Given the description of an element on the screen output the (x, y) to click on. 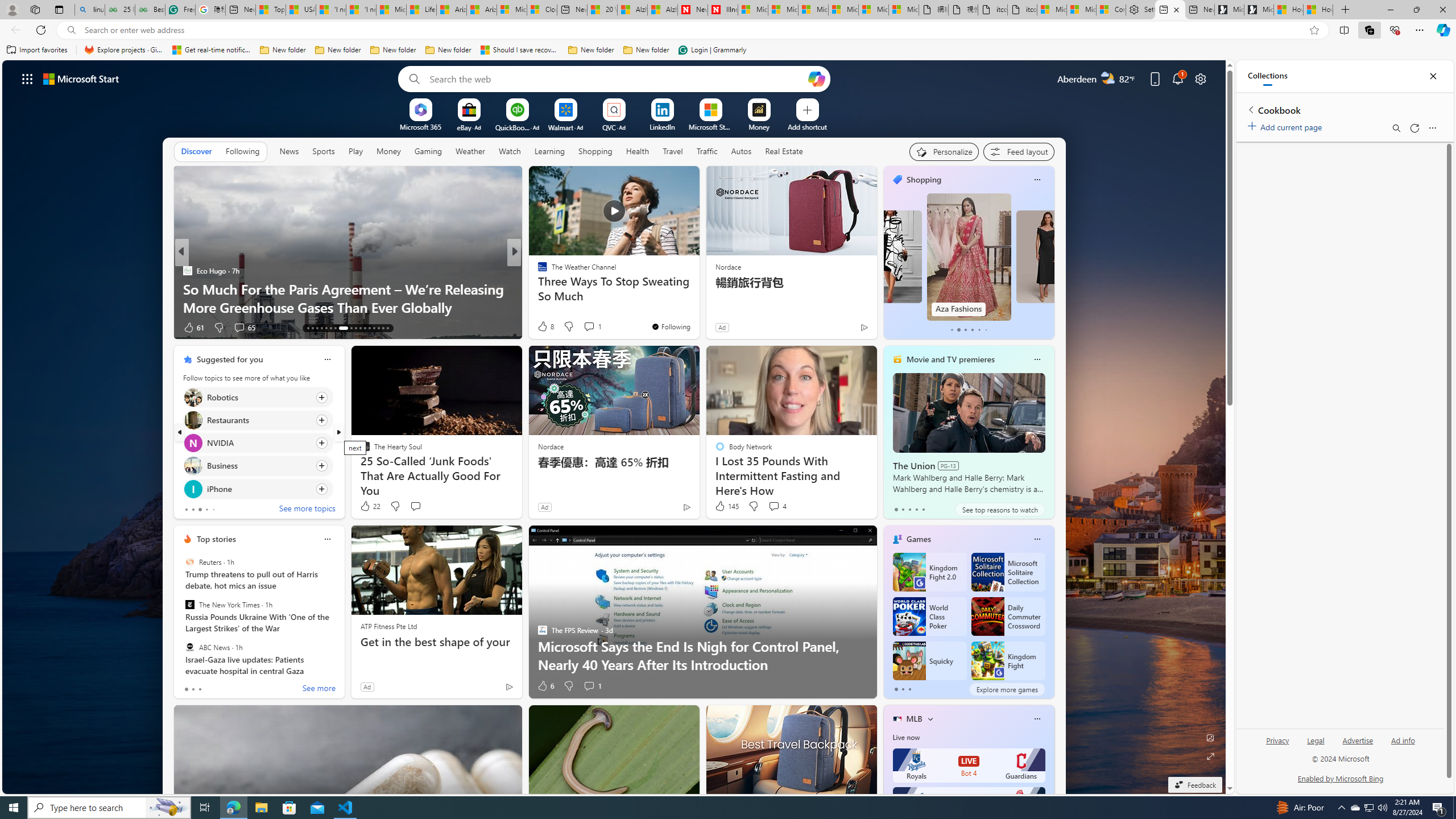
tab-5 (986, 329)
127 Like (545, 327)
AutomationID: tab-15 (317, 328)
Favorites bar (728, 49)
Autos (740, 151)
Class: sd-card-game-item-img-inner (987, 660)
